Given the description of an element on the screen output the (x, y) to click on. 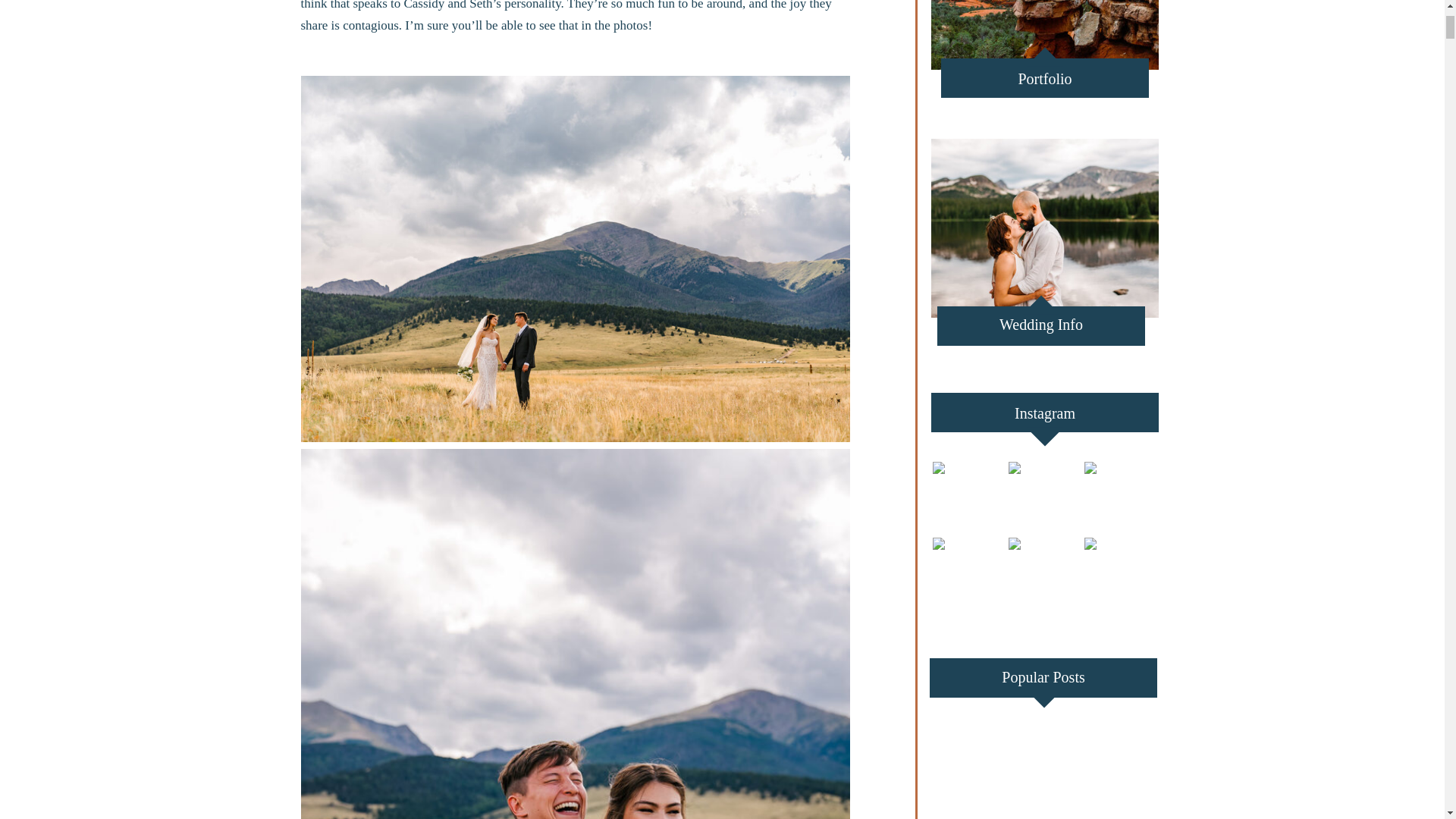
Wedding Info (1040, 330)
Instagram (1044, 419)
Portfolio (1044, 77)
